Given the description of an element on the screen output the (x, y) to click on. 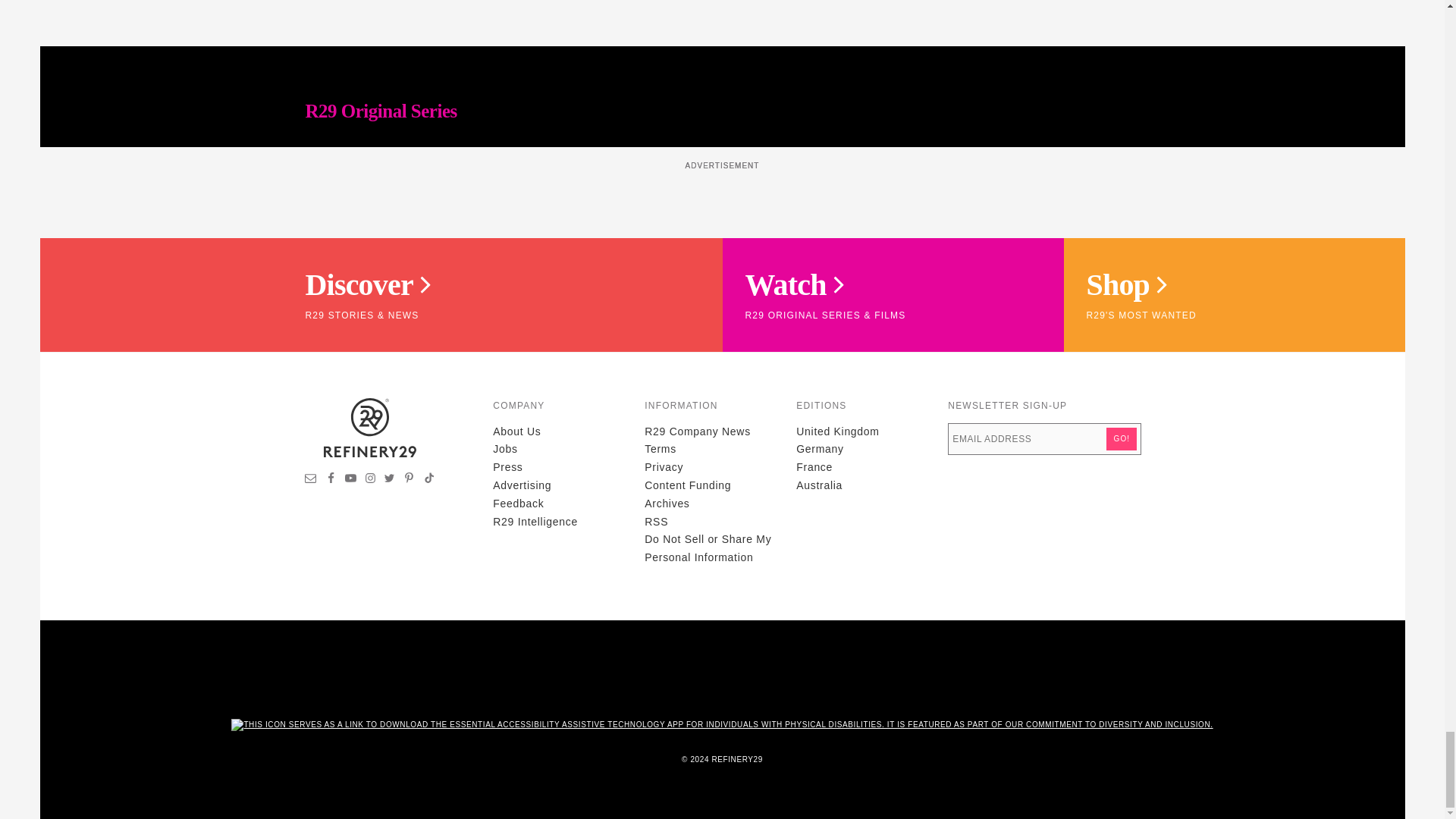
Visit Refinery29 on YouTube (350, 480)
Visit Refinery29 on TikTok (428, 480)
Sign up for newsletters (310, 480)
